Given the description of an element on the screen output the (x, y) to click on. 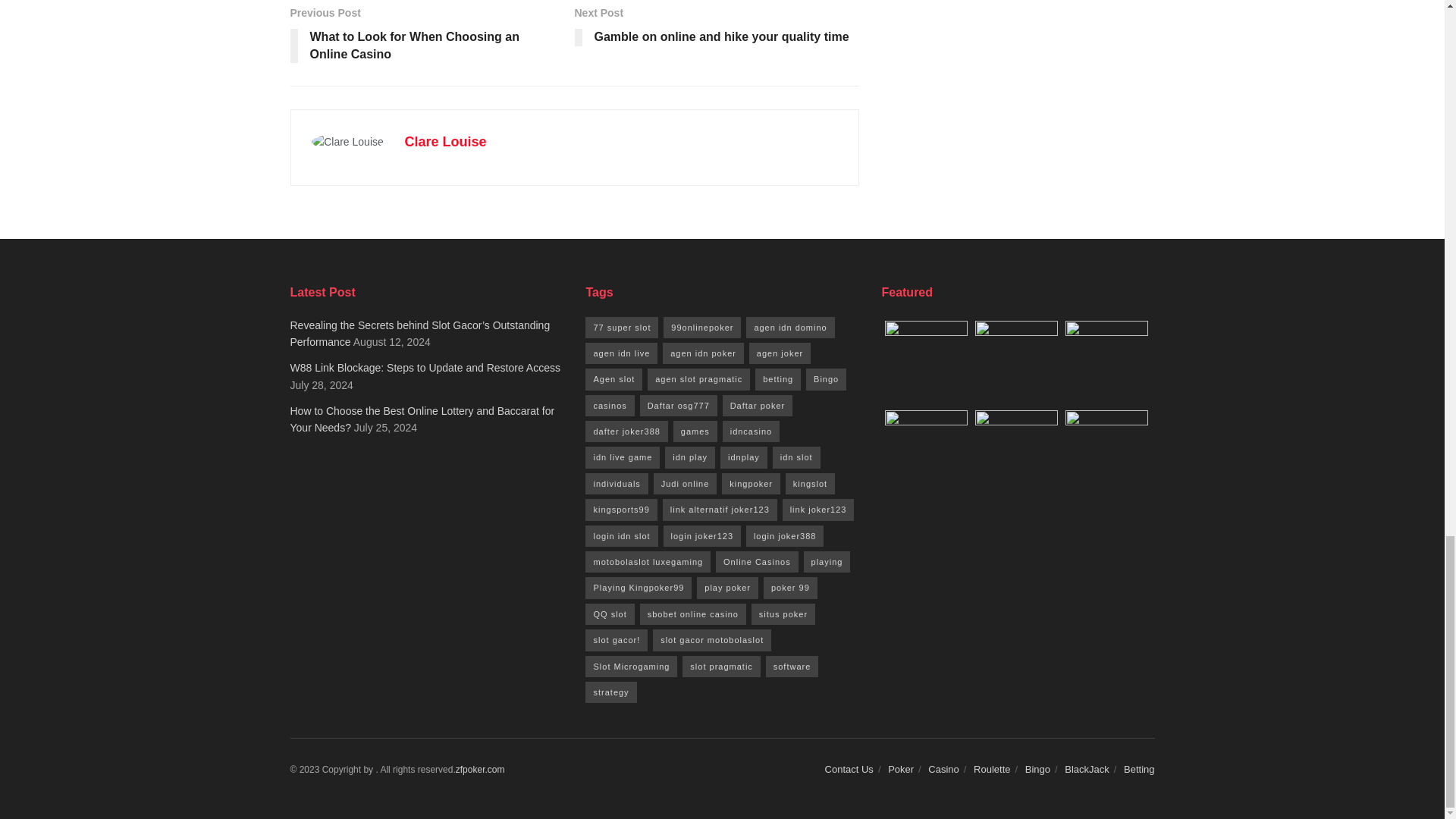
Clare Louise (445, 141)
Jegtheme (717, 29)
